Given the description of an element on the screen output the (x, y) to click on. 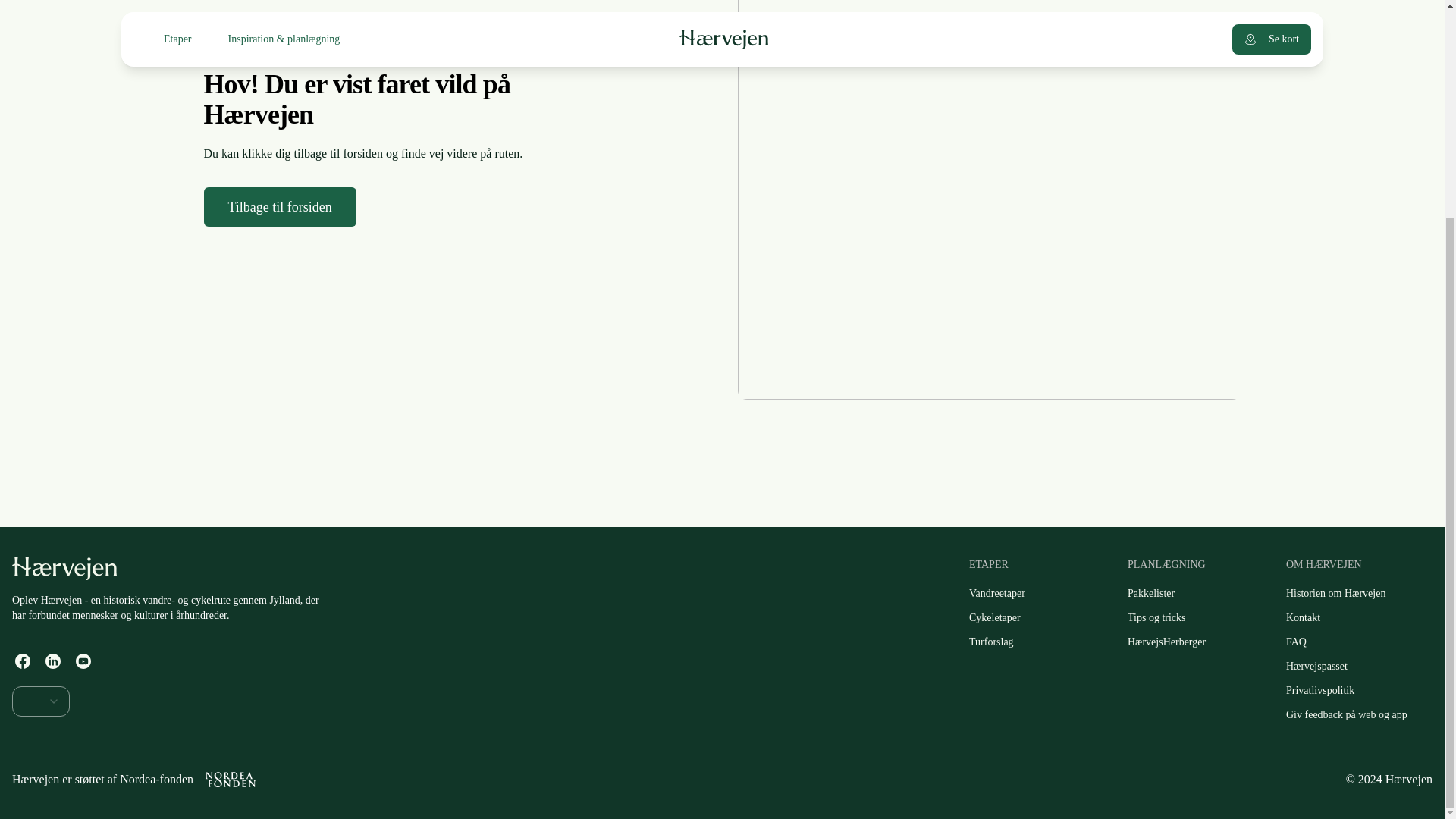
Tips og tricks (1156, 618)
FAQ (1296, 642)
Cykeletaper (994, 618)
Pakkelister (1150, 593)
Kontakt (1302, 618)
Turforslag (991, 642)
Vandreetaper (996, 593)
Privatlivspolitik (1319, 690)
Tilbage til forsiden (279, 206)
